Given the description of an element on the screen output the (x, y) to click on. 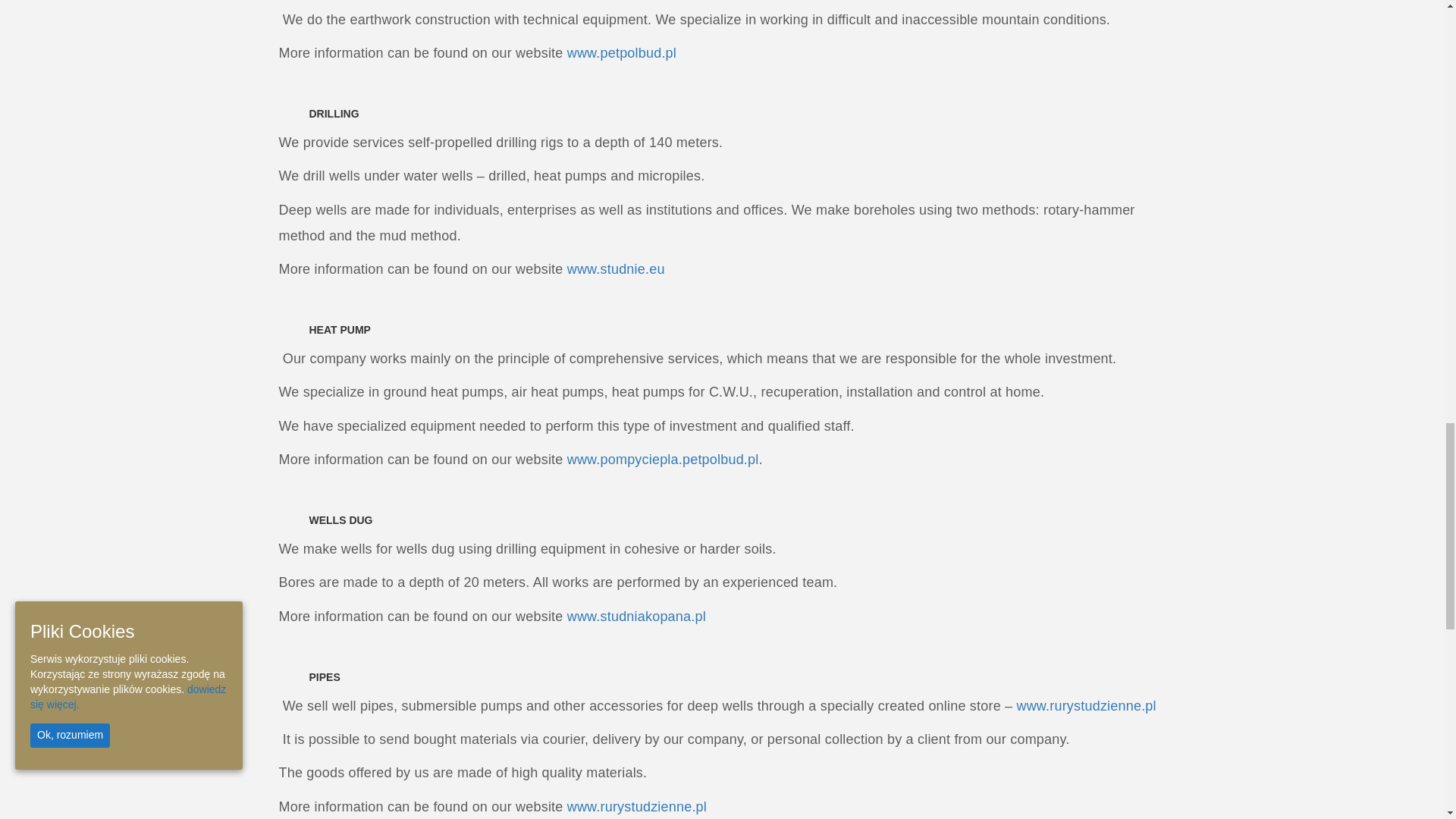
www.petpolbud.pl (627, 52)
www.rurystudzienne.pl (637, 806)
www.studnie.eu (620, 268)
www.rurystudzienne.pl (1087, 705)
www.pompyciepla.petpolbud.pl (666, 459)
www.studniakopana.pl (638, 616)
